Given the description of an element on the screen output the (x, y) to click on. 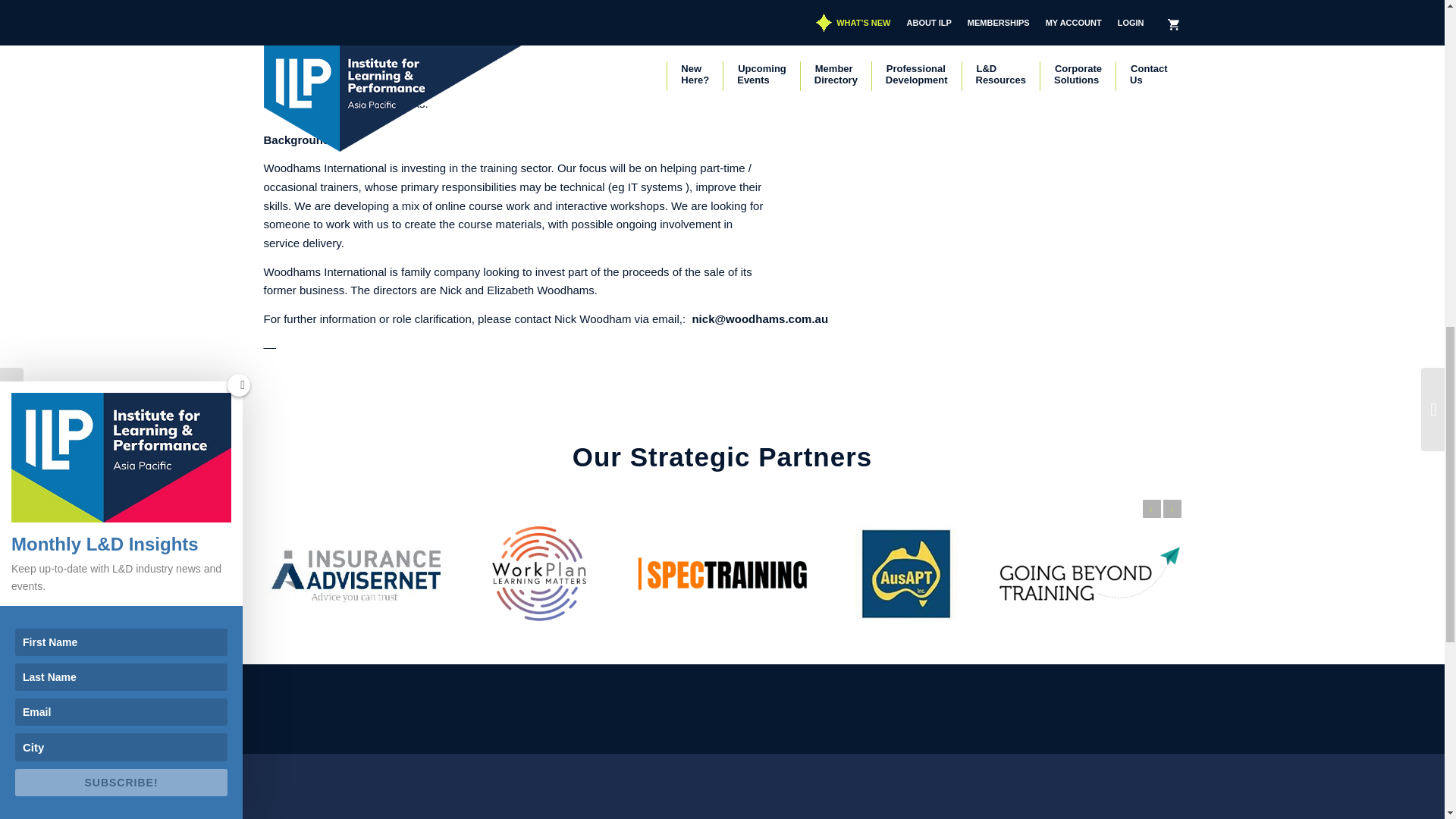
The Learning Gym - We Help Learning Professionals Upskill (1088, 573)
